Given the description of an element on the screen output the (x, y) to click on. 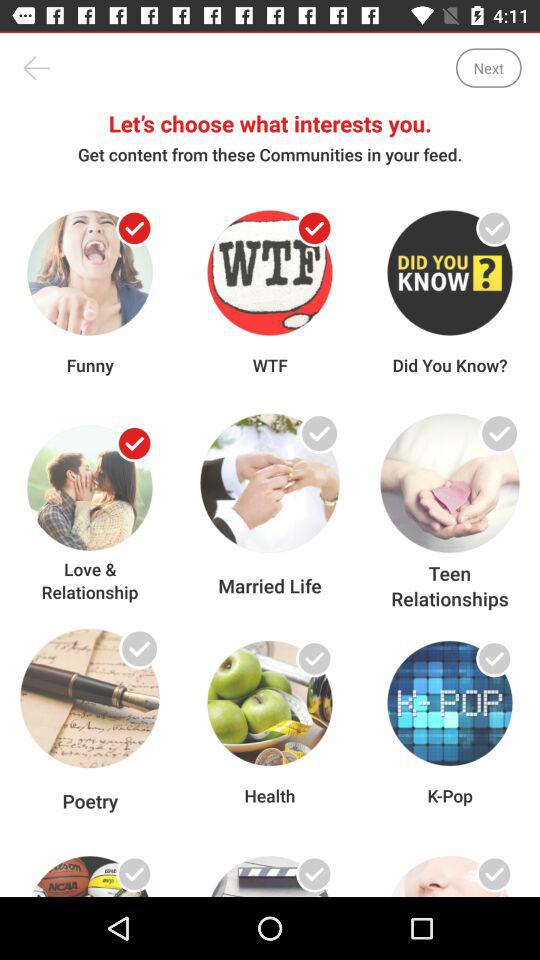
click the tick (494, 873)
